Given the description of an element on the screen output the (x, y) to click on. 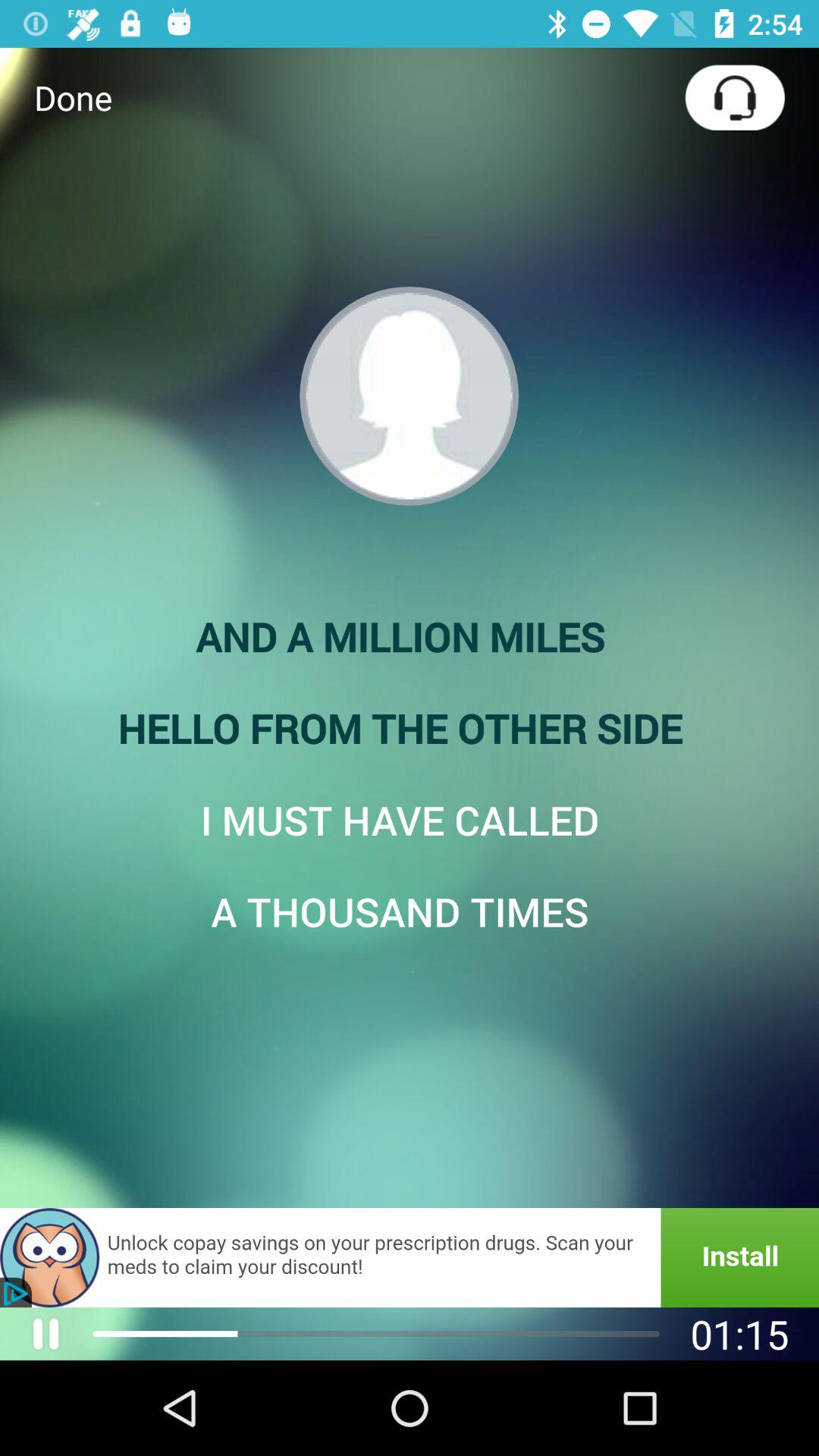
select done icon (72, 97)
